Given the description of an element on the screen output the (x, y) to click on. 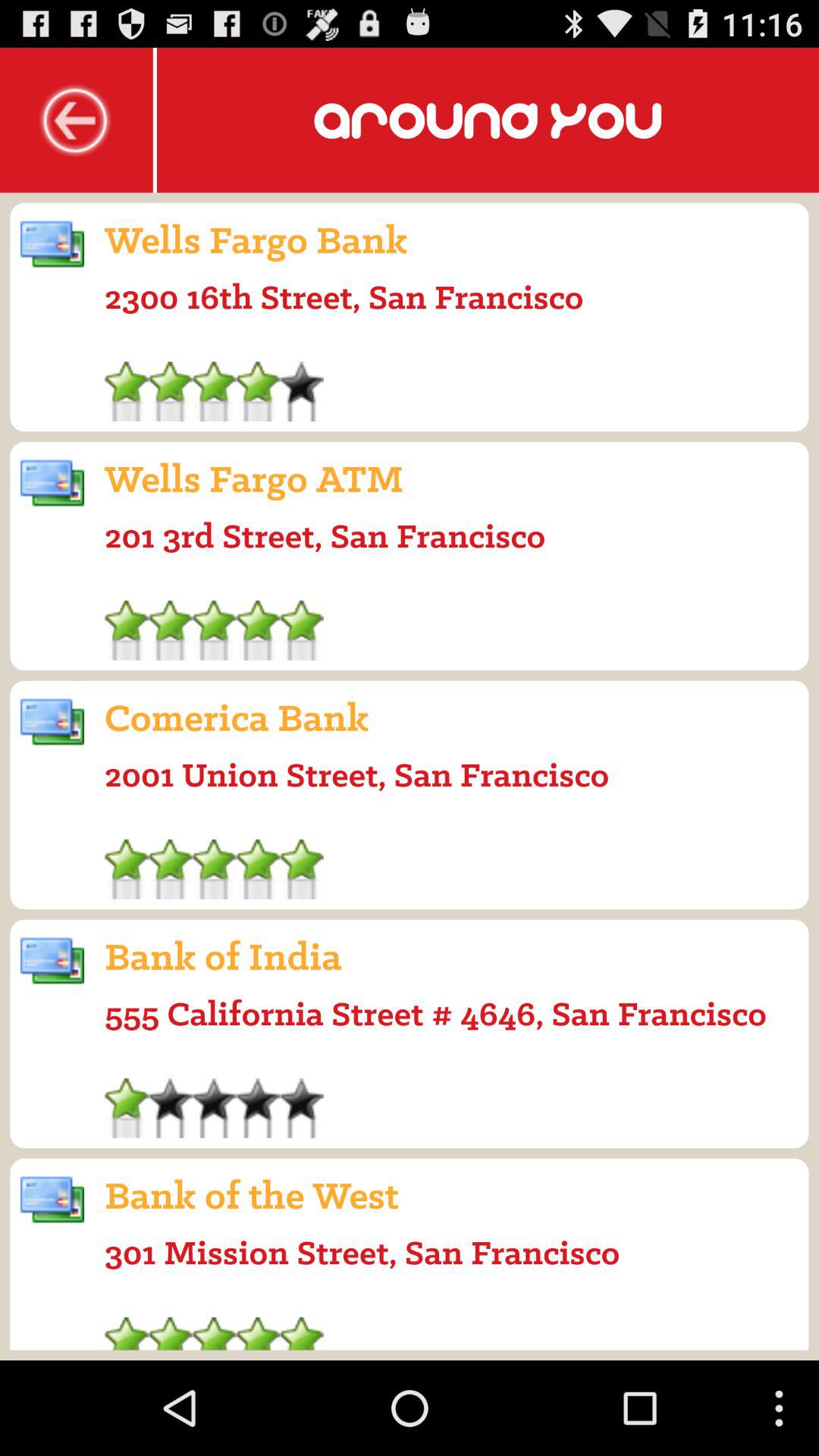
swipe until 555 california street item (435, 1013)
